Given the description of an element on the screen output the (x, y) to click on. 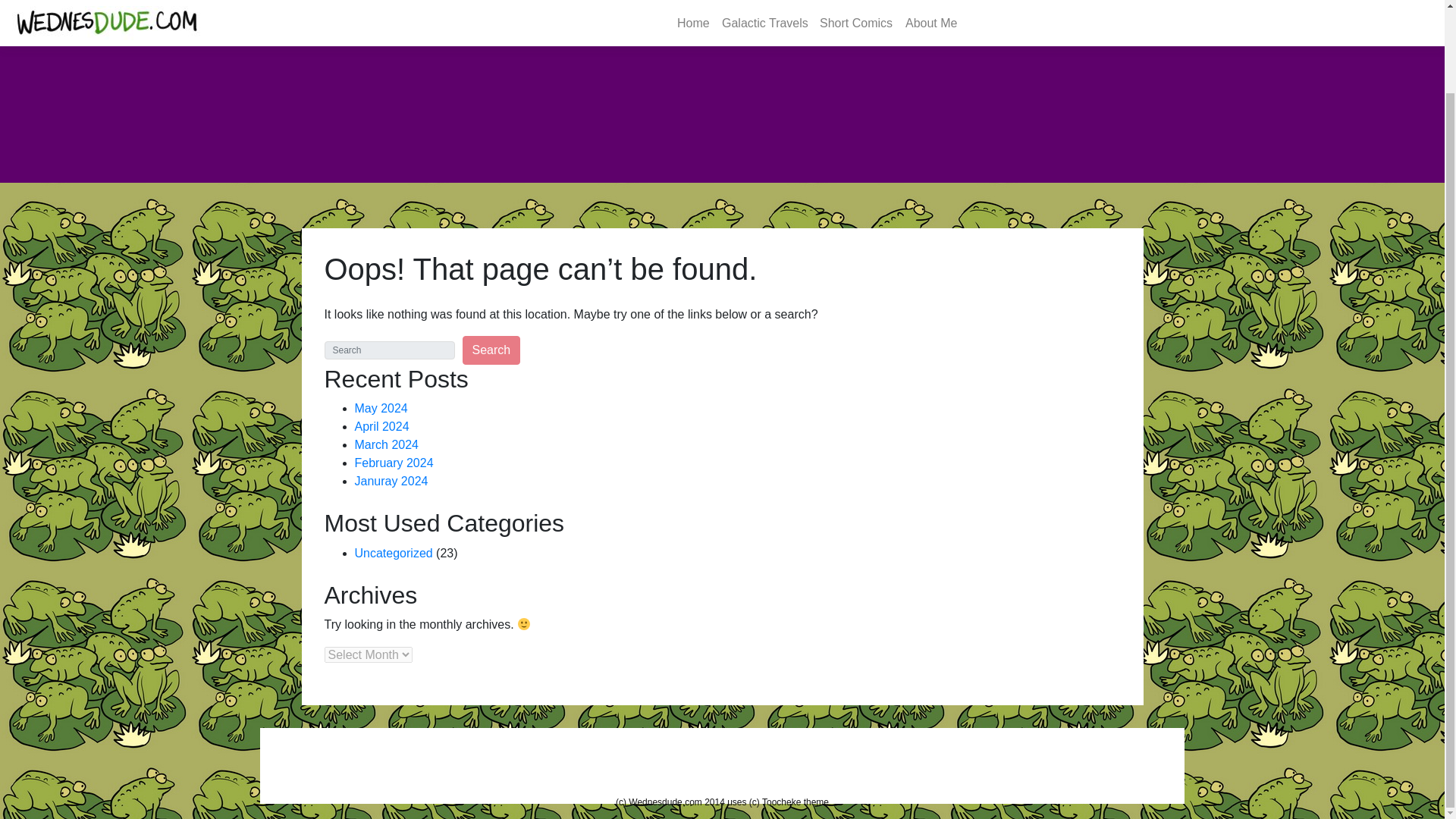
Januray 2024 (391, 481)
April 2024 (382, 426)
February 2024 (394, 462)
March 2024 (387, 444)
Search (492, 349)
Uncategorized (393, 553)
May 2024 (381, 408)
